Given the description of an element on the screen output the (x, y) to click on. 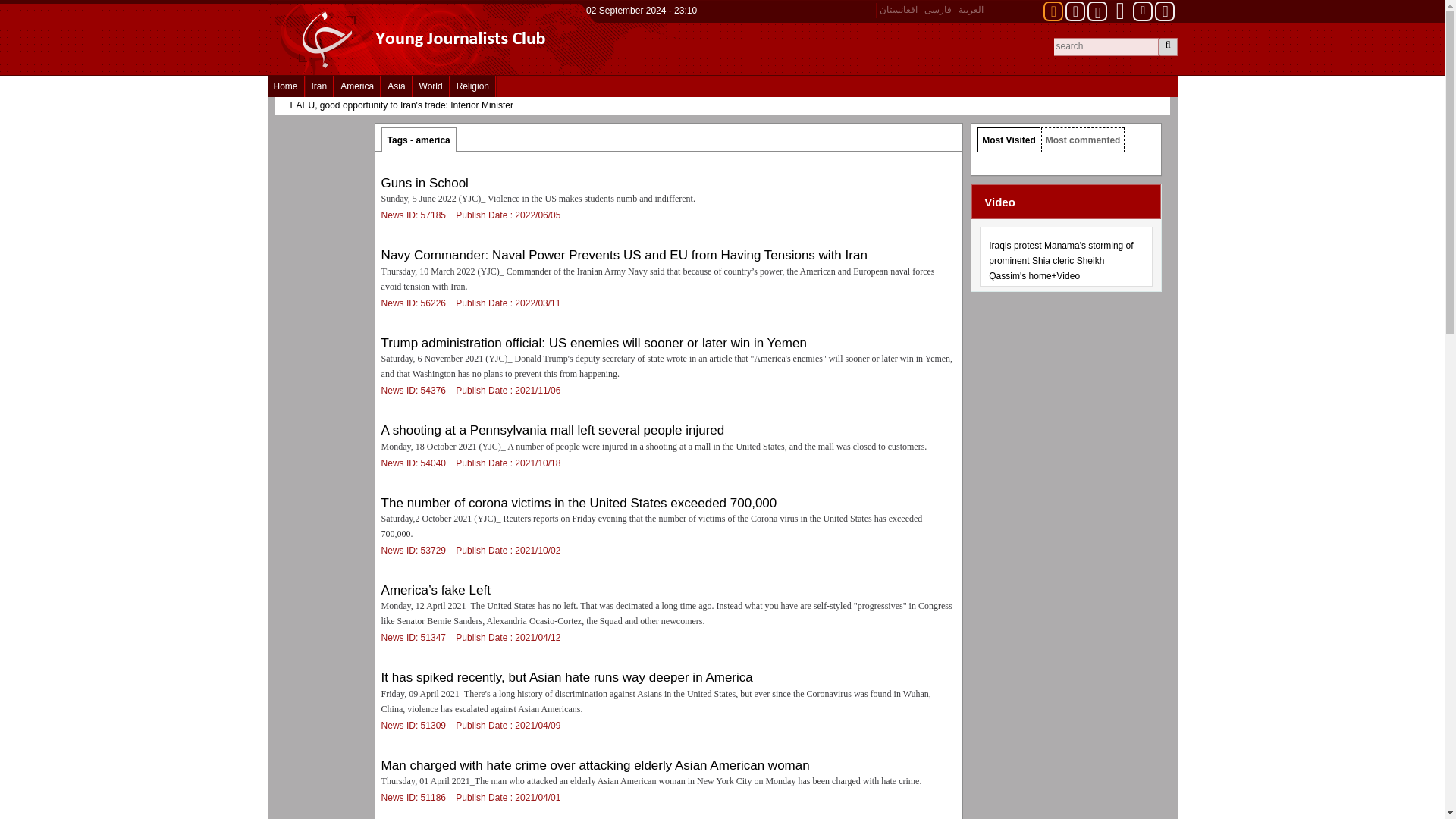
America (357, 86)
Home (284, 86)
World (430, 86)
Iran (319, 86)
Asia (395, 86)
Religion (472, 86)
